Given the description of an element on the screen output the (x, y) to click on. 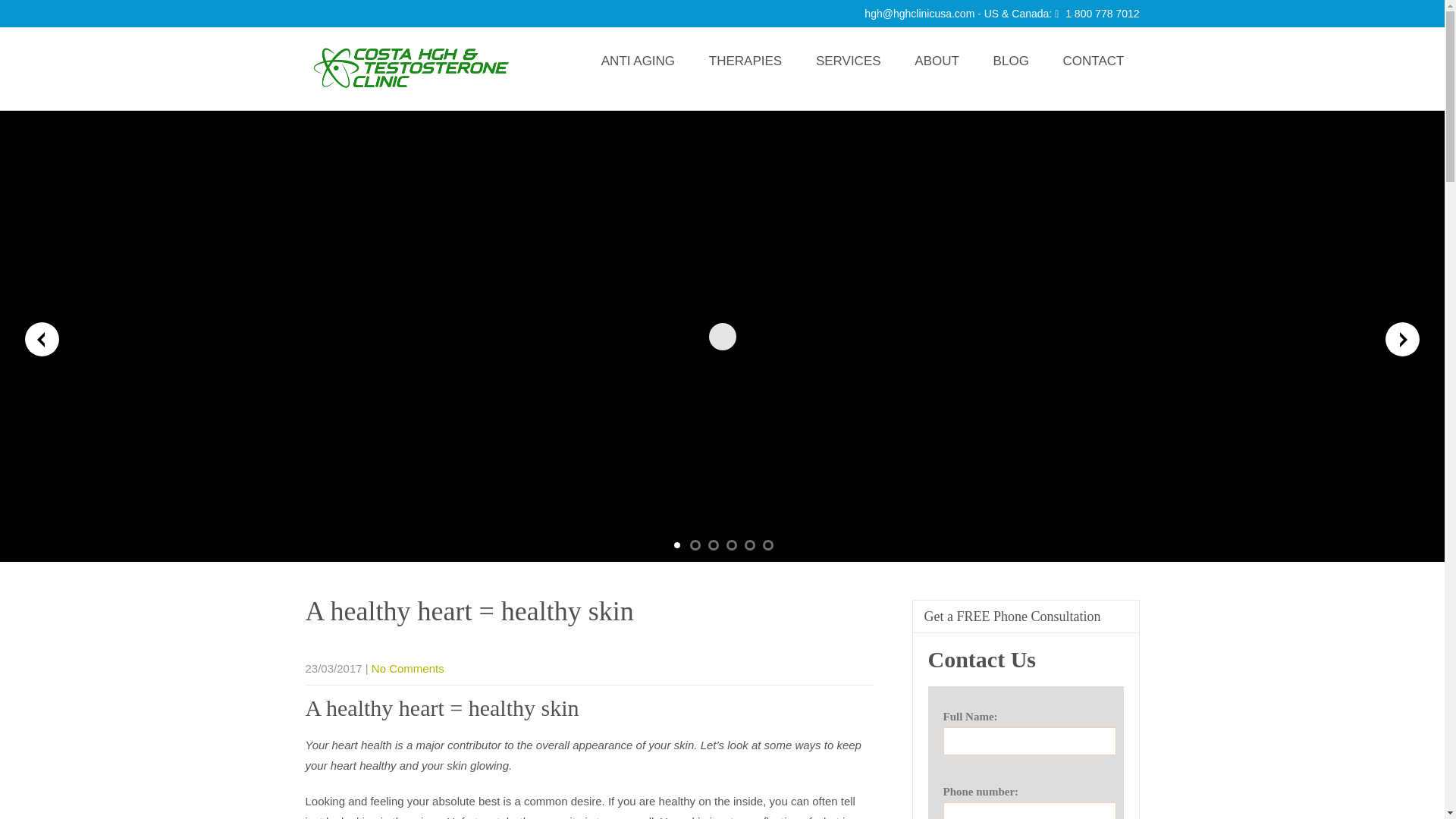
SERVICES (848, 61)
ANTI AGING (638, 61)
BLOG (1010, 61)
THERAPIES (745, 61)
ABOUT (936, 61)
CONTACT (1094, 61)
